Given the description of an element on the screen output the (x, y) to click on. 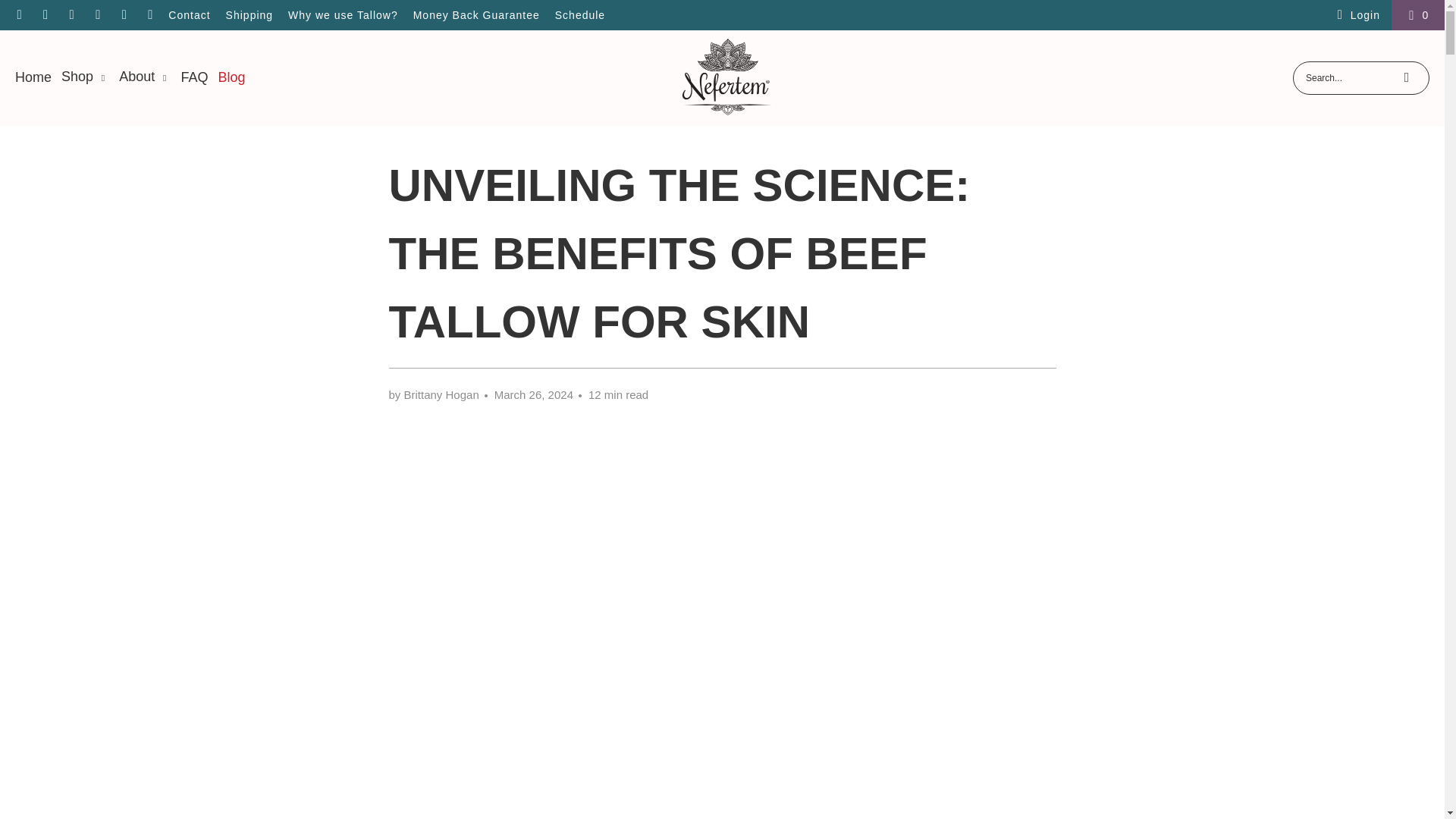
Nefertem on Instagram (71, 15)
Nefertem on YouTube (149, 15)
Why we use Tallow? (342, 15)
Nefertem on TikTok (123, 15)
Nefertem on Facebook (44, 15)
Contact (188, 15)
Nefertem (727, 77)
Email Nefertem (18, 15)
Shipping (249, 15)
Nefertem on Pinterest (97, 15)
My Account  (1356, 15)
